Given the description of an element on the screen output the (x, y) to click on. 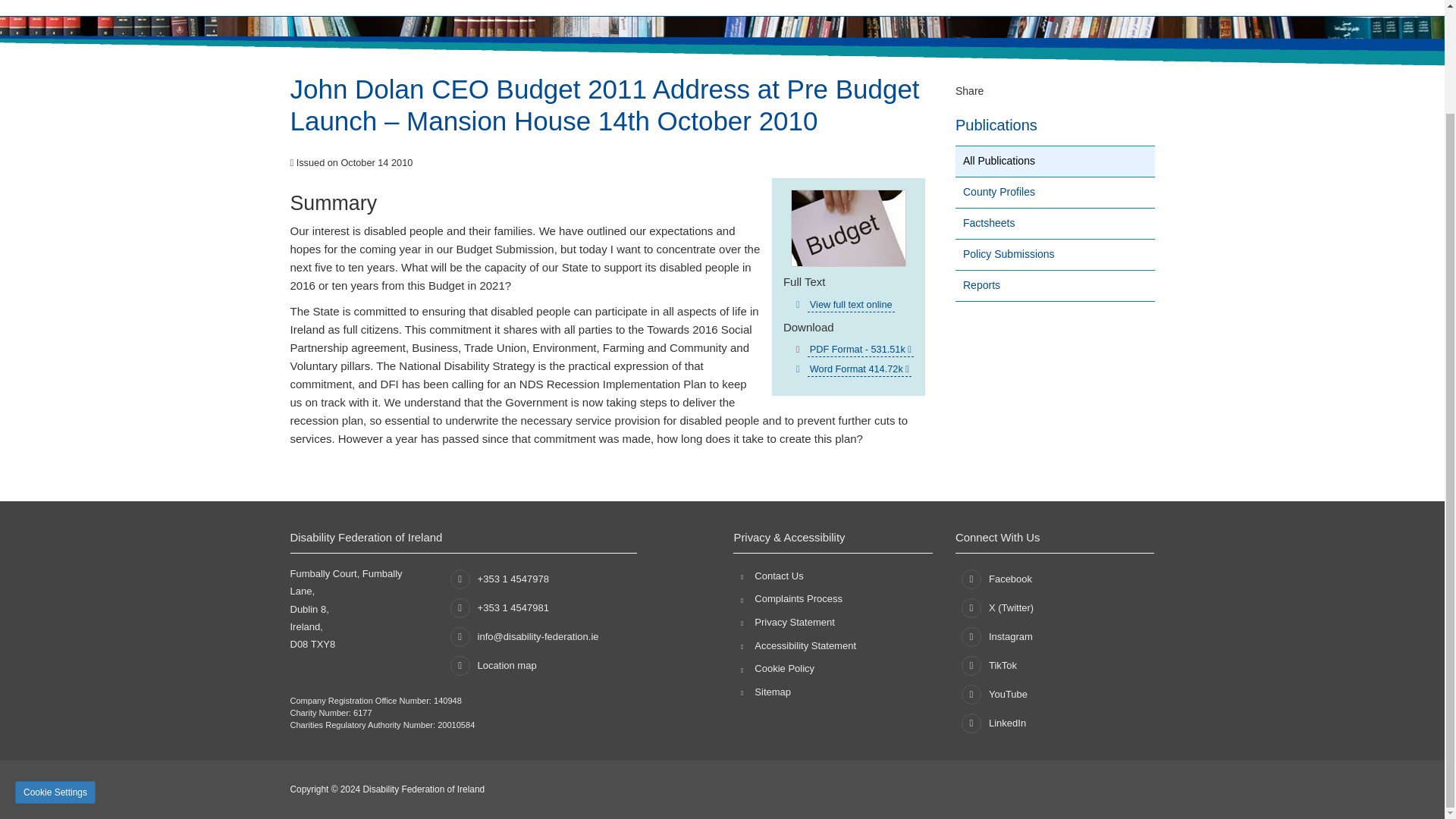
Publications - Publications (1054, 160)
Publications - Policy Submissions (1054, 254)
Site developed by the Digital Revolutionaries (1120, 787)
DISABILITY FEDERATION OF IRELAND (429, 6)
Publications - County Profiles (1054, 192)
Publications - Factsheets (1054, 223)
Publications - Reports (1054, 285)
